Given the description of an element on the screen output the (x, y) to click on. 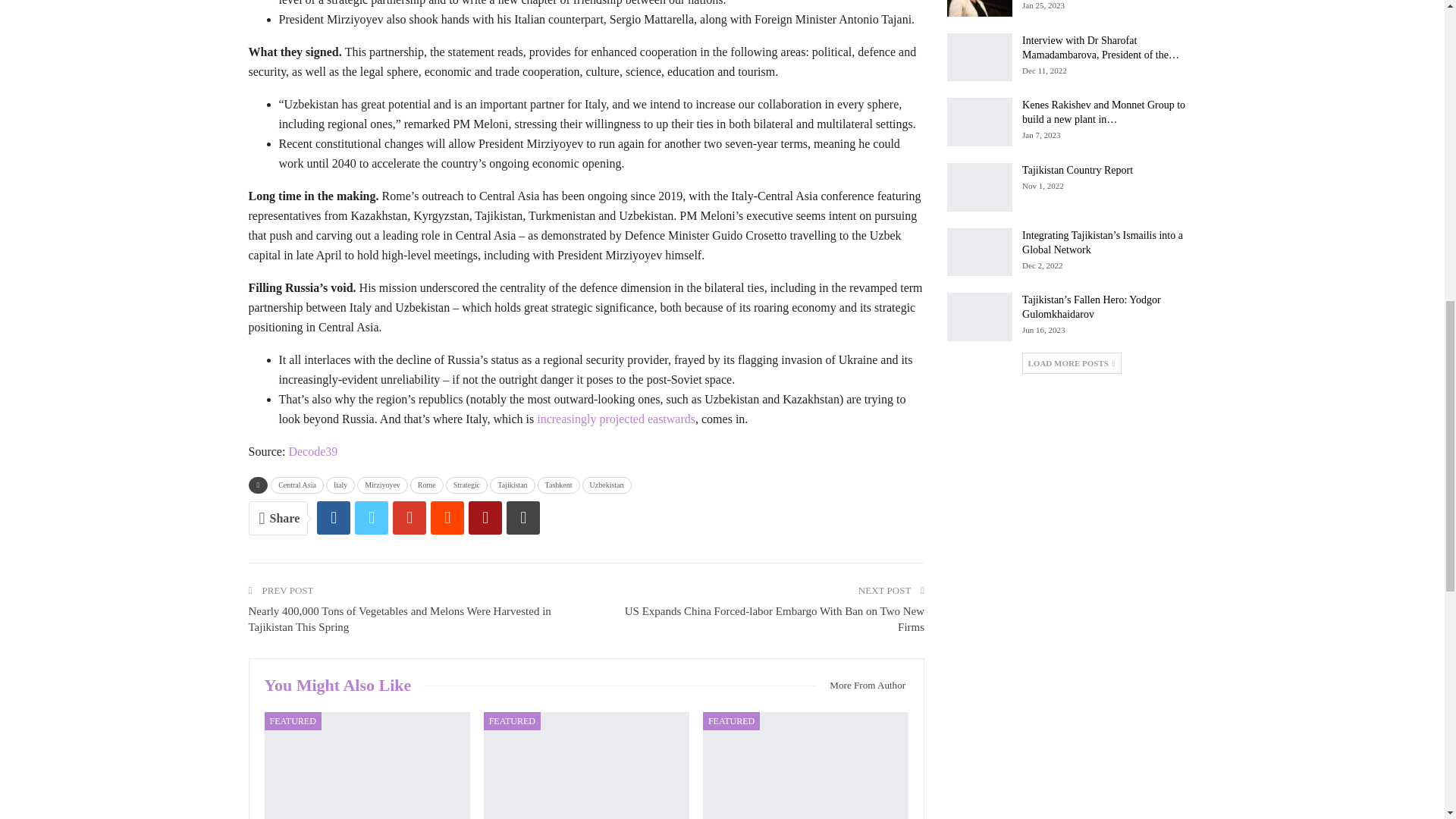
Tajikistan to stop repressing human rights defenders (979, 8)
